Given the description of an element on the screen output the (x, y) to click on. 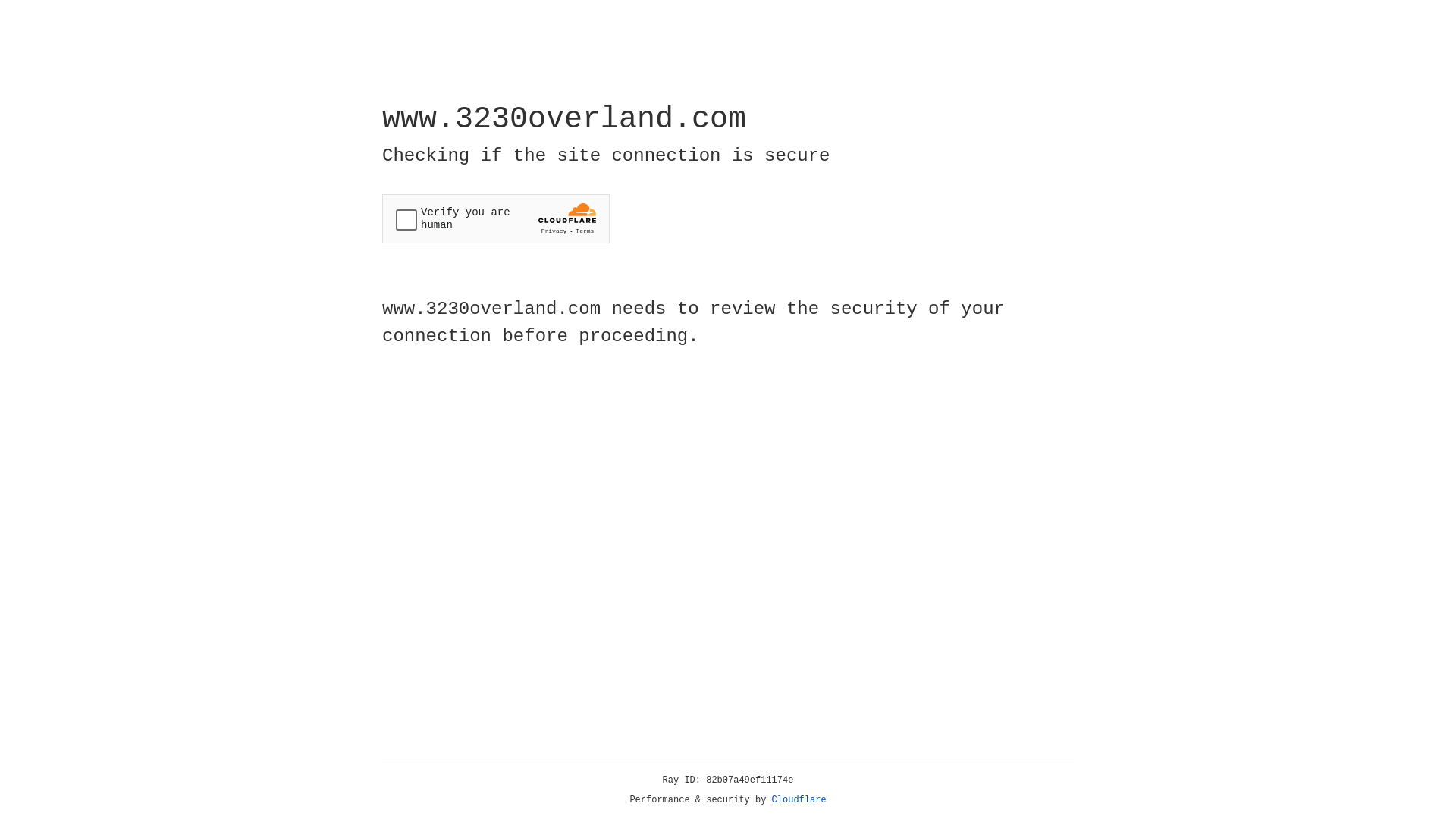
Cloudflare Element type: text (798, 799)
Widget containing a Cloudflare security challenge Element type: hover (495, 218)
